Given the description of an element on the screen output the (x, y) to click on. 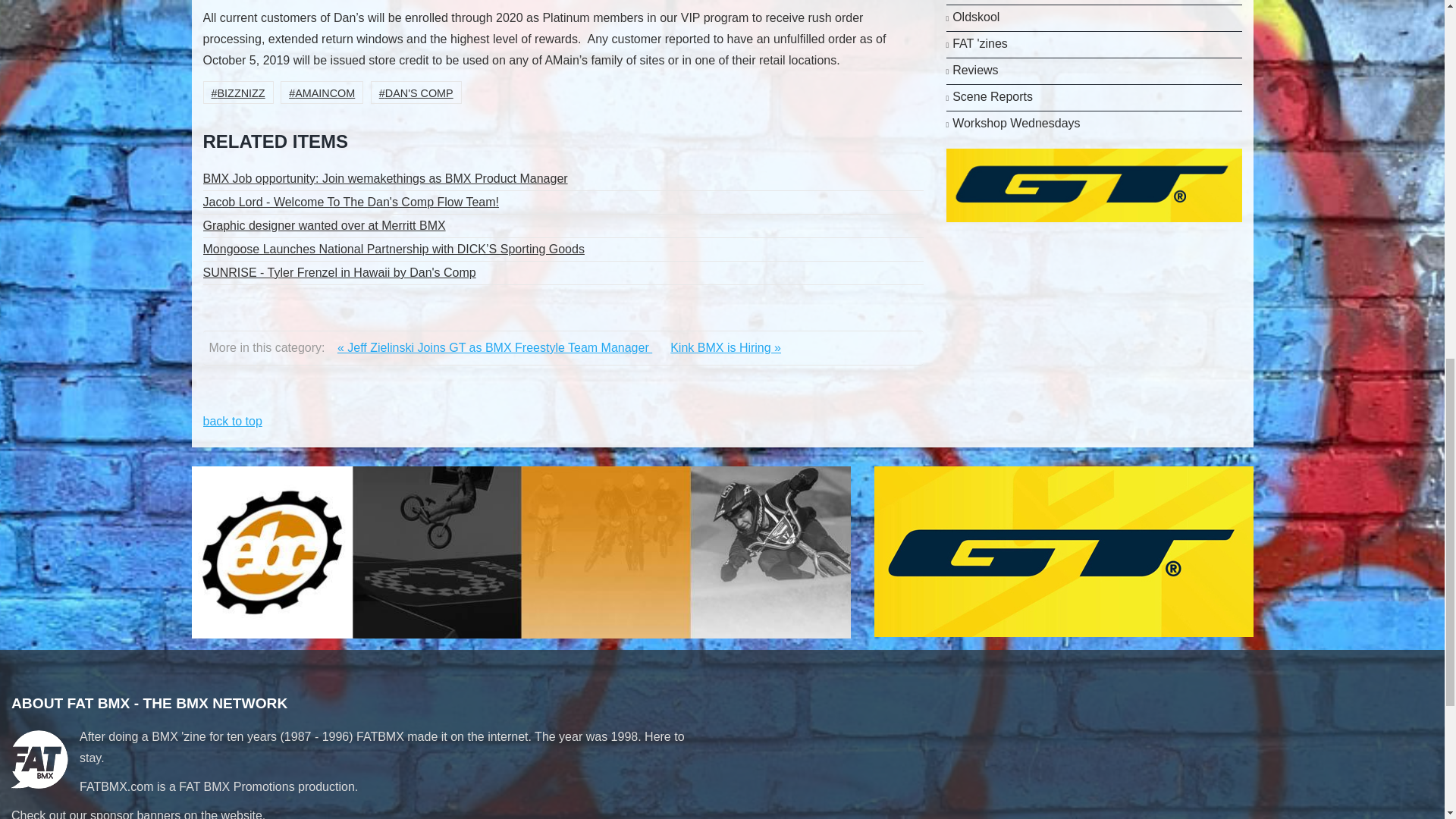
BIZZNIZZ (238, 92)
Graphic designer wanted over at Merritt BMX (563, 225)
Jacob Lord - Welcome To The Dan's Comp Flow Team! (563, 201)
GT BMX (1093, 184)
DAN'S COMP (416, 92)
EBC860 (520, 551)
AMAINCOM (321, 92)
